Given the description of an element on the screen output the (x, y) to click on. 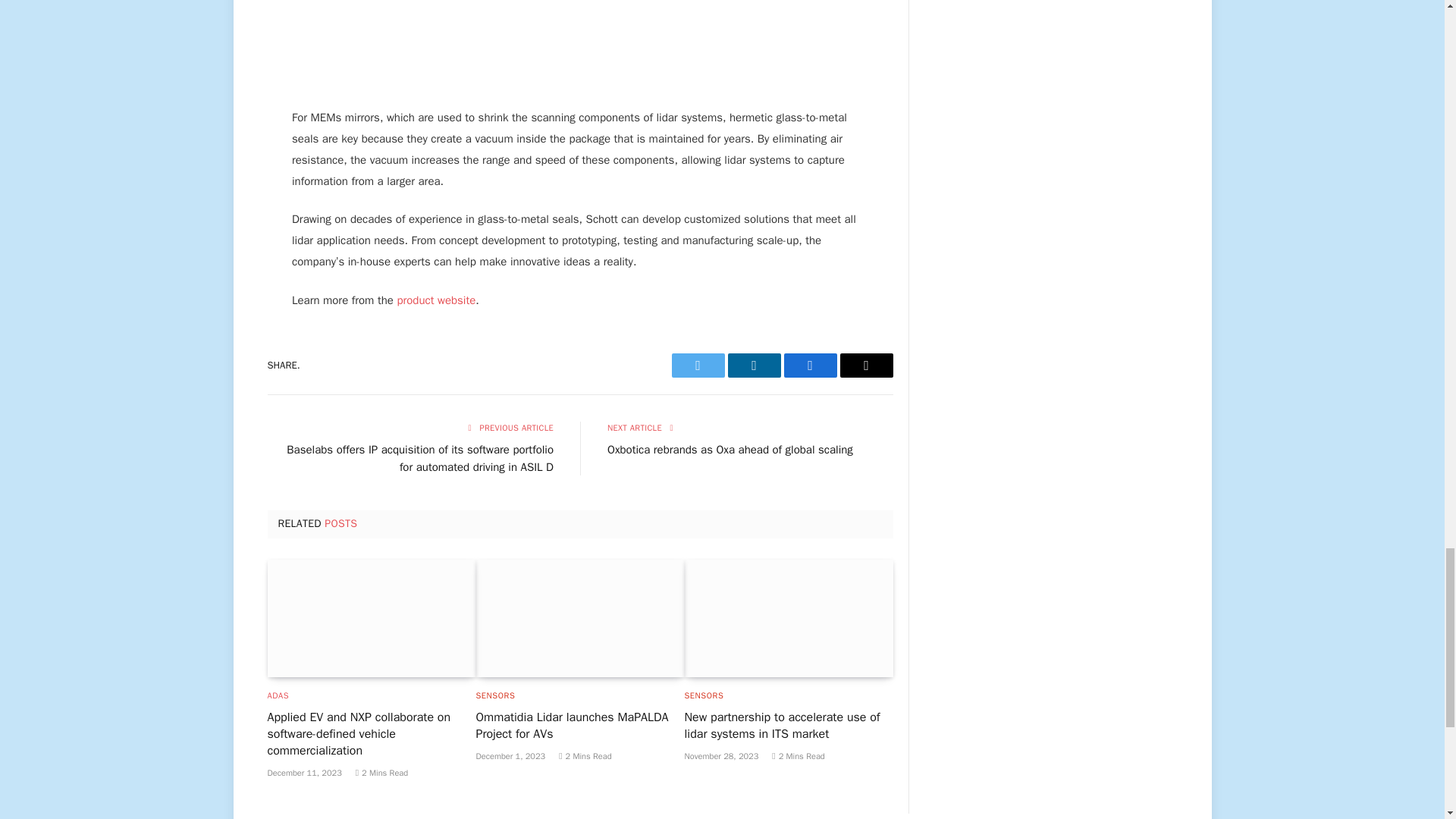
Share on Twitter (698, 364)
Share on LinkedIn (754, 364)
